Given the description of an element on the screen output the (x, y) to click on. 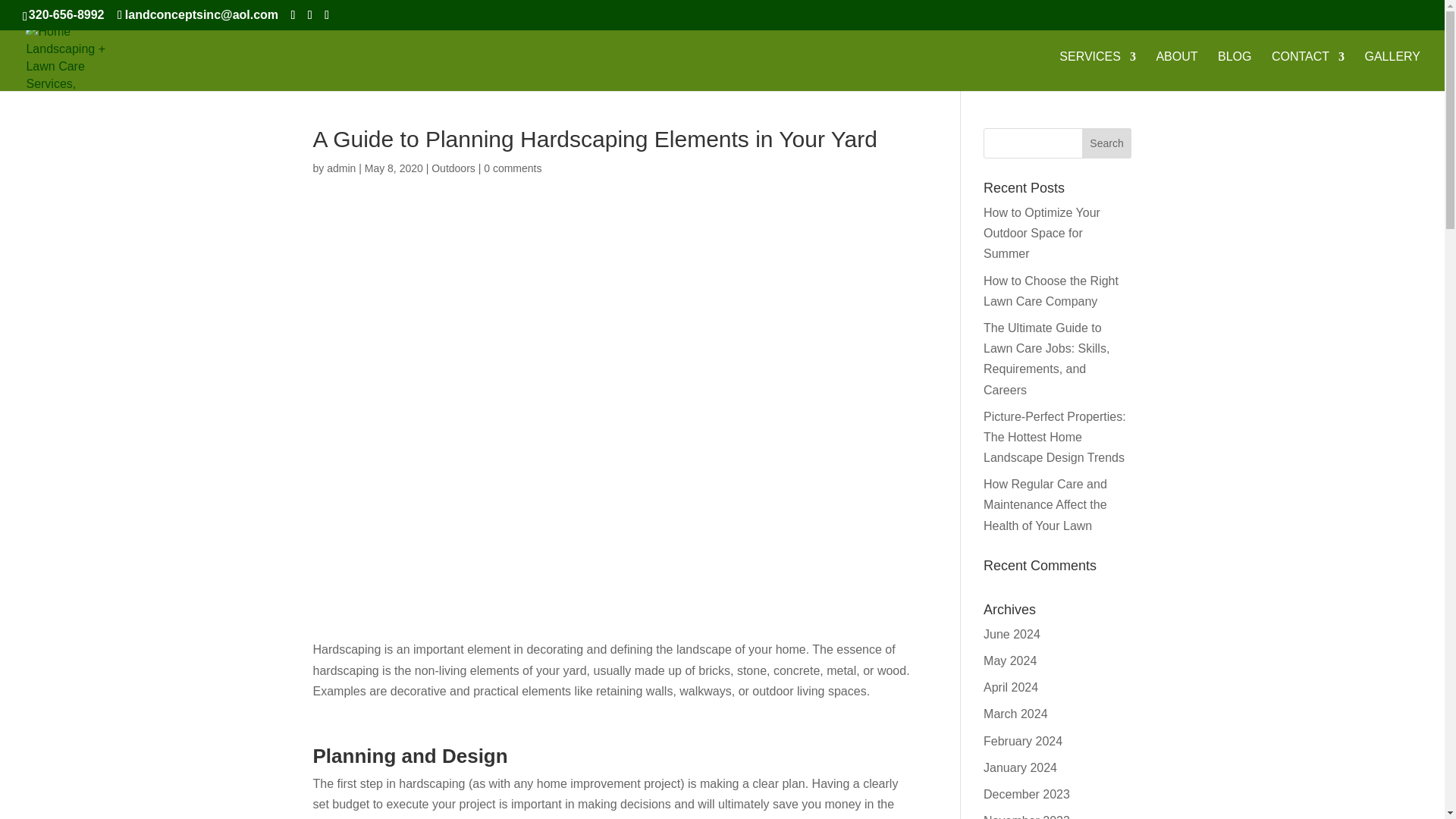
January 2024 (1020, 767)
April 2024 (1011, 686)
February 2024 (1023, 740)
March 2024 (1016, 713)
Search (1106, 142)
Search (1106, 142)
How to Choose the Right Lawn Care Company  (1051, 290)
Posts by admin (340, 168)
Outdoors (453, 168)
June 2024 (1012, 634)
November 2023 (1027, 816)
December 2023 (1027, 793)
